Given the description of an element on the screen output the (x, y) to click on. 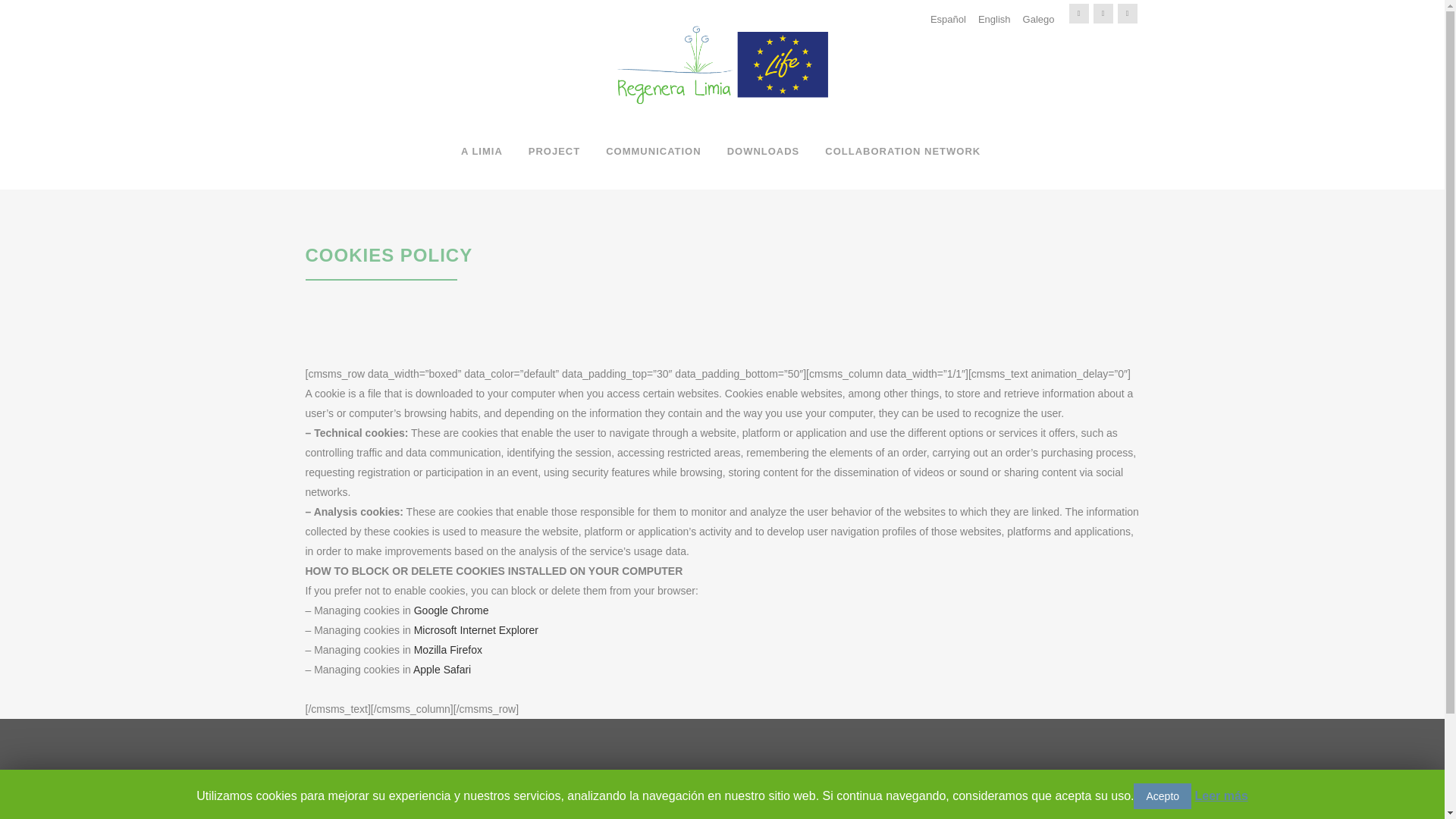
A LIMIA (481, 151)
DOWNLOADS (763, 151)
COLLABORATION NETWORK (902, 151)
PROJECT (553, 151)
COMMUNICATION (652, 151)
English (994, 18)
Galego (1038, 18)
